Given the description of an element on the screen output the (x, y) to click on. 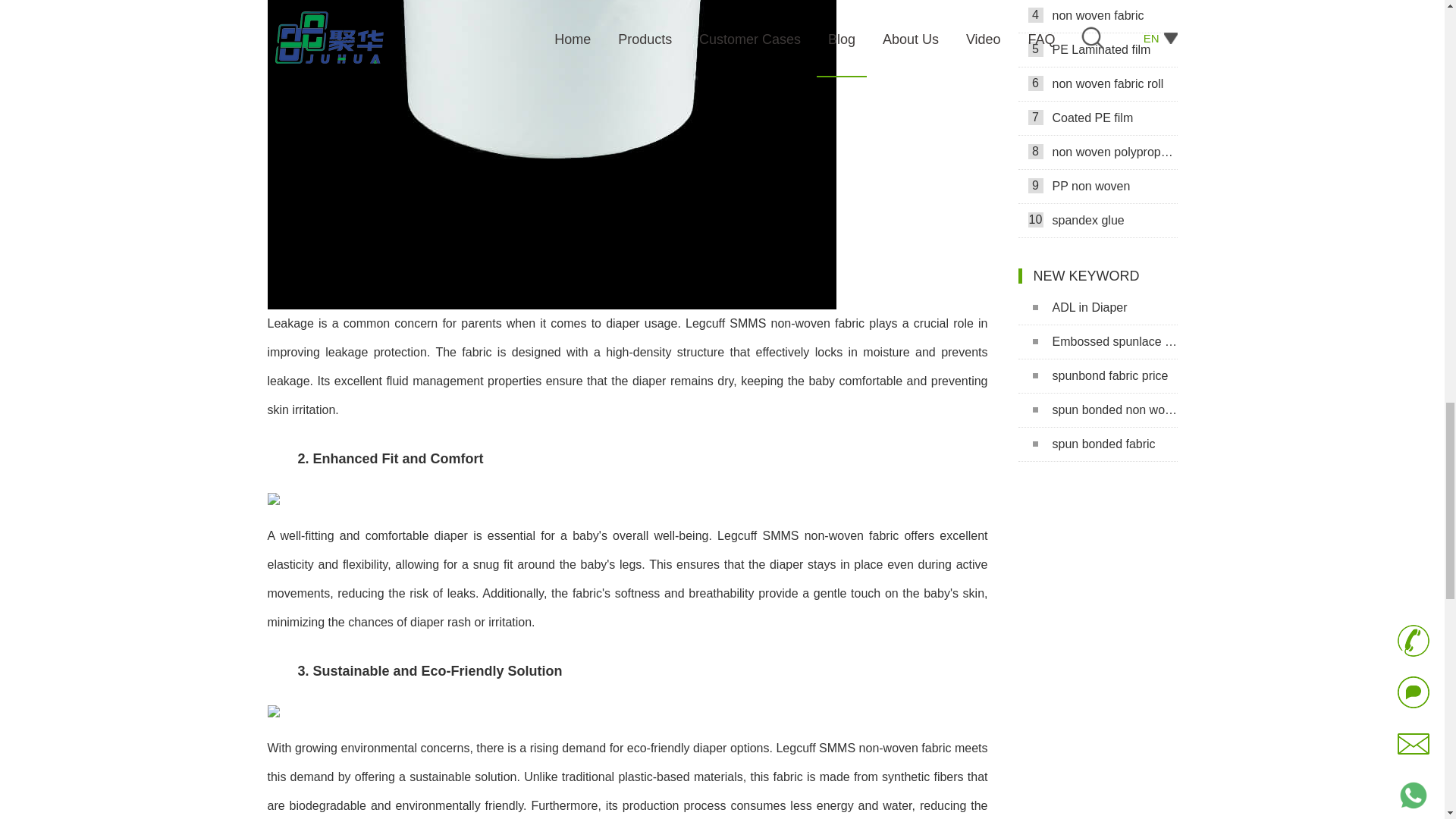
Coated PE film  (1096, 118)
ADL in Diaper (1096, 308)
spandex glue (1096, 220)
SMMS (272, 719)
non woven fabric roll  (1096, 84)
non woven polypropylene  (1096, 152)
Embossed spunlace non woven  fabric for wet wipes (1096, 342)
spunbond fabric price (1096, 376)
PE Laminated film (1096, 50)
non woven fabric (1096, 16)
SMMS (272, 507)
PP non woven  (1096, 186)
